Given the description of an element on the screen output the (x, y) to click on. 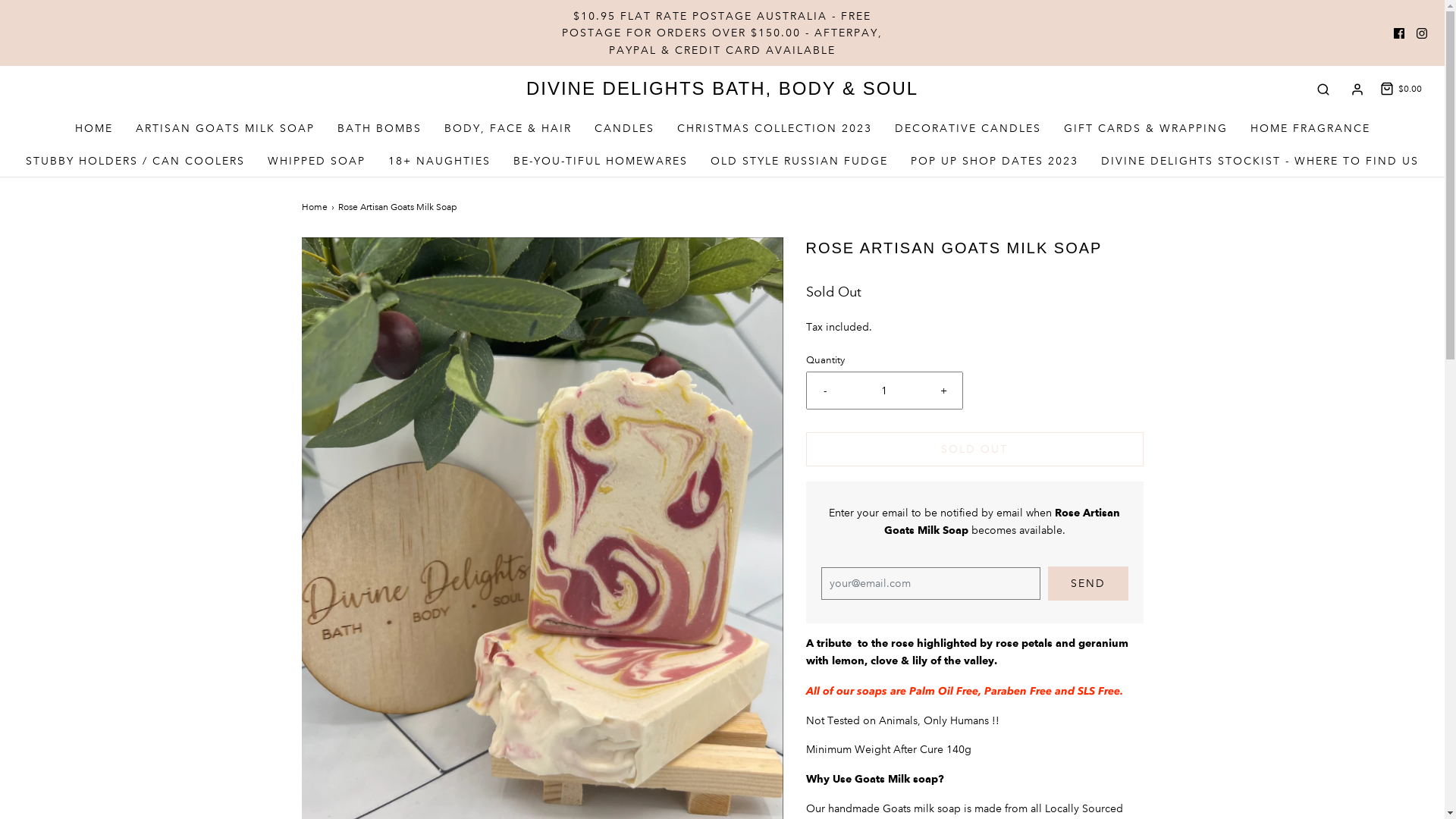
DIVINE DELIGHTS STOCKIST - WHERE TO FIND US Element type: text (1259, 160)
BE-YOU-TIFUL HOMEWARES Element type: text (600, 160)
18+ NAUGHTIES Element type: text (439, 160)
Home Element type: text (316, 207)
DECORATIVE CANDLES Element type: text (967, 128)
$0.00 Element type: text (1399, 88)
INSTAGRAM ICON Element type: text (1421, 33)
SOLD OUT Element type: text (973, 449)
DIVINE DELIGHTS BATH, BODY & SOUL Element type: text (722, 89)
BATH BOMBS Element type: text (378, 128)
- Element type: text (825, 390)
POP UP SHOP DATES 2023 Element type: text (994, 160)
HOME Element type: text (93, 128)
+ Element type: text (943, 390)
WHIPPED SOAP Element type: text (316, 160)
ARTISAN GOATS MILK SOAP Element type: text (223, 128)
Send Element type: text (1088, 583)
BODY, FACE & HAIR Element type: text (507, 128)
HOME FRAGRANCE Element type: text (1309, 128)
FACEBOOK ICON Element type: text (1398, 33)
OLD STYLE RUSSIAN FUDGE Element type: text (799, 160)
CANDLES Element type: text (624, 128)
GIFT CARDS & WRAPPING Element type: text (1144, 128)
STUBBY HOLDERS / CAN COOLERS Element type: text (134, 160)
Log in Element type: hover (1357, 89)
Search Element type: hover (1322, 89)
CHRISTMAS COLLECTION 2023 Element type: text (773, 128)
